Given the description of an element on the screen output the (x, y) to click on. 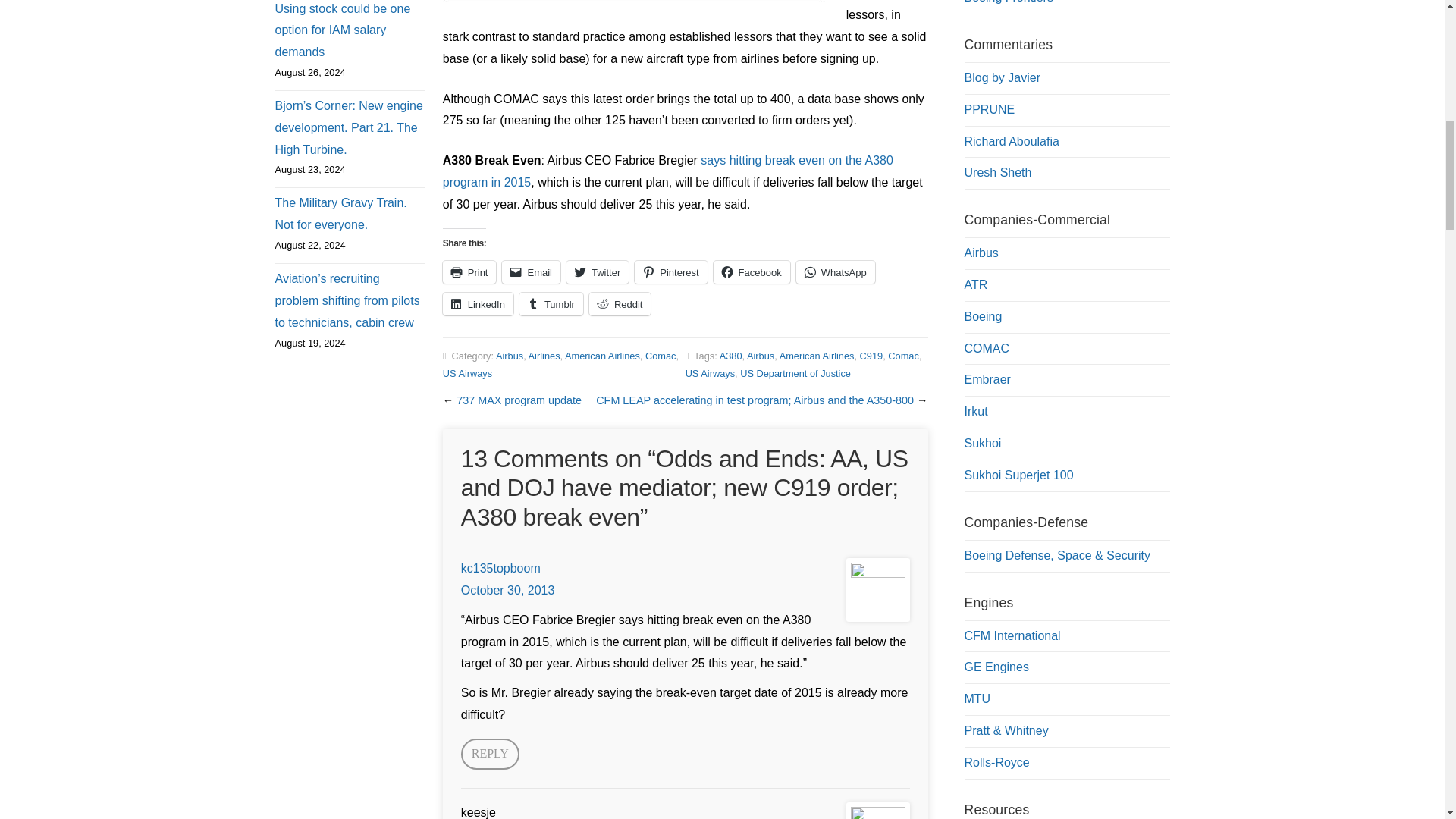
Comac (661, 355)
Using stock could be one option for IAM salary demands (349, 31)
Click to email a link to a friend (531, 272)
US Airways (467, 373)
Click to print (469, 272)
Reddit (619, 303)
Click to share on Reddit (619, 303)
Pinterest (670, 272)
American Airlines (602, 355)
Email (531, 272)
